Given the description of an element on the screen output the (x, y) to click on. 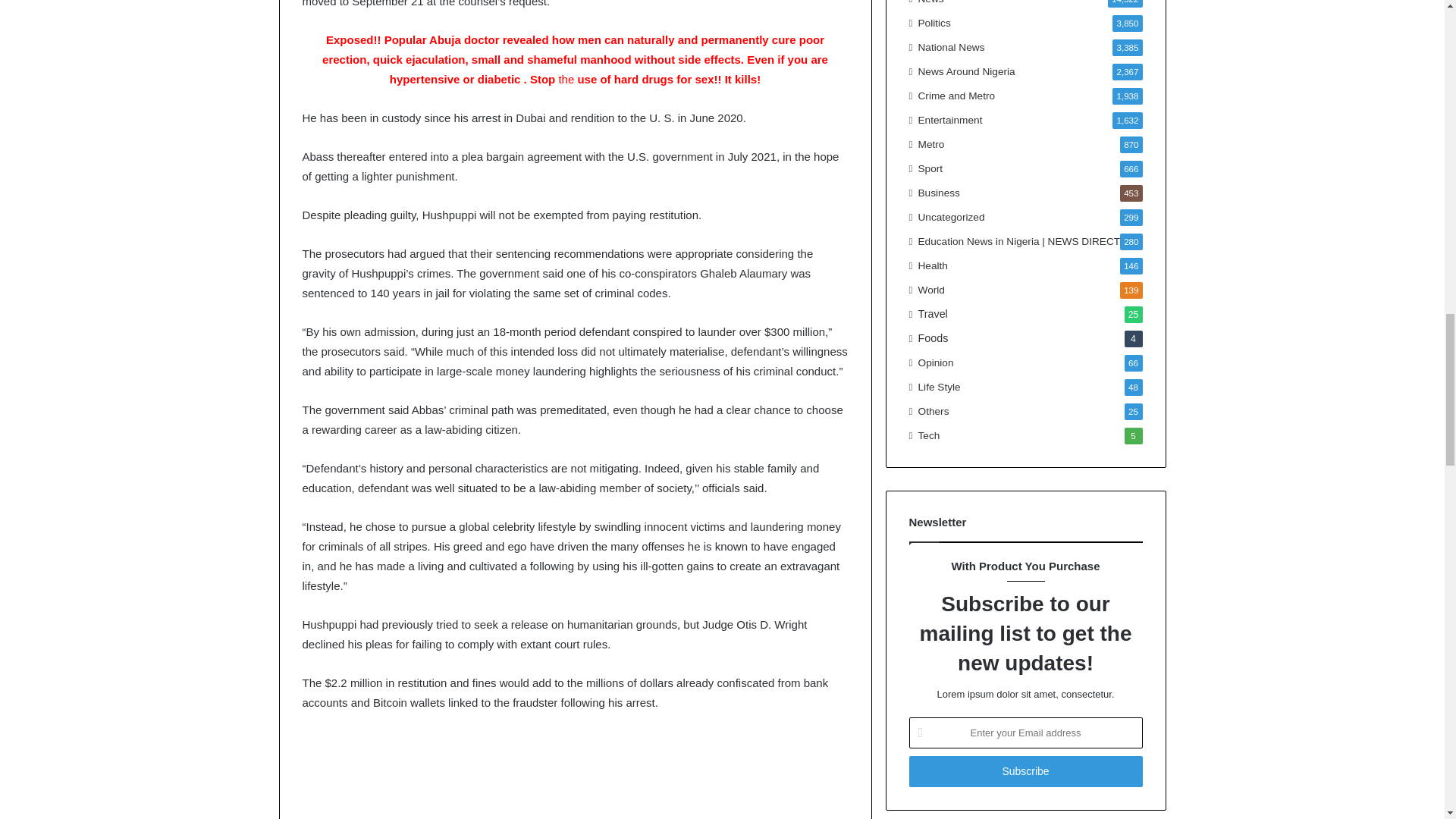
use of hard drugs for sex!! It kills! (666, 78)
the (565, 78)
Subscribe (1025, 771)
